Given the description of an element on the screen output the (x, y) to click on. 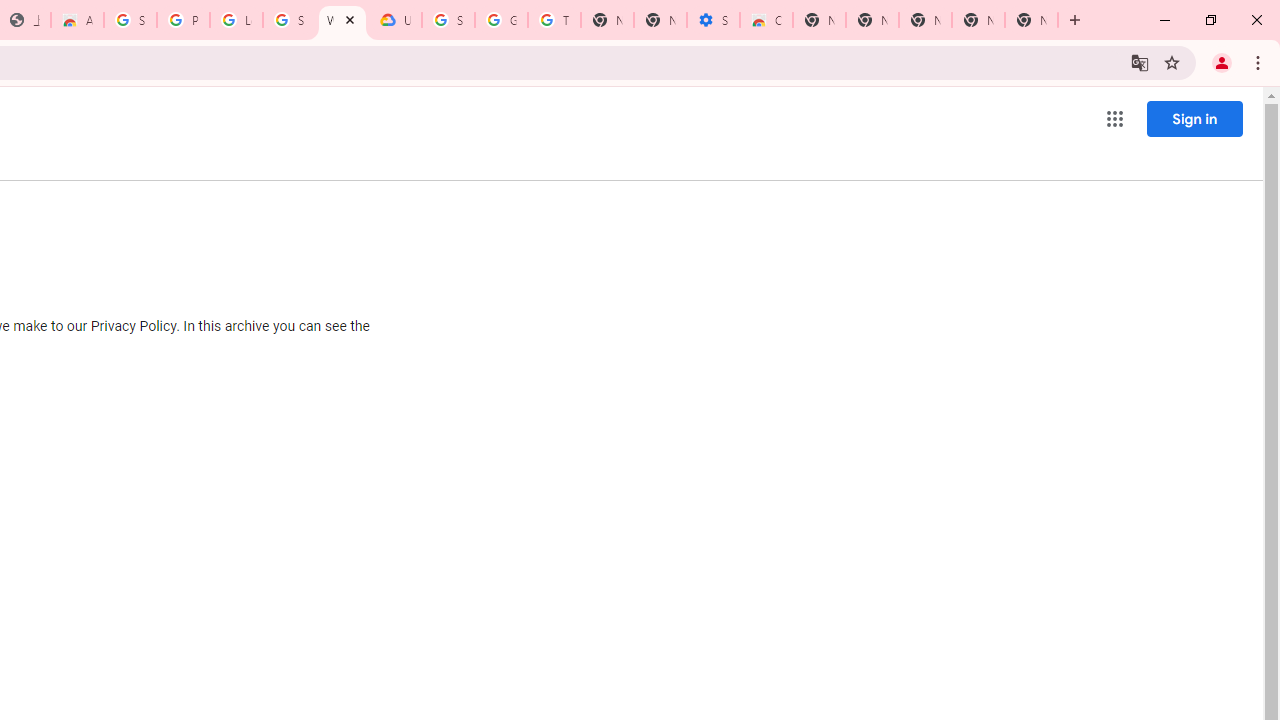
New Tab (1075, 20)
Sign in - Google Accounts (289, 20)
Bookmark this tab (1171, 62)
Sign in - Google Accounts (448, 20)
Sign in (1194, 118)
Settings - Accessibility (713, 20)
Sign in - Google Accounts (130, 20)
New Tab (1031, 20)
Who are Google's partners? - Privacy and conditions - Google (342, 20)
Chrome Web Store - Accessibility extensions (766, 20)
You (1221, 62)
